Given the description of an element on the screen output the (x, y) to click on. 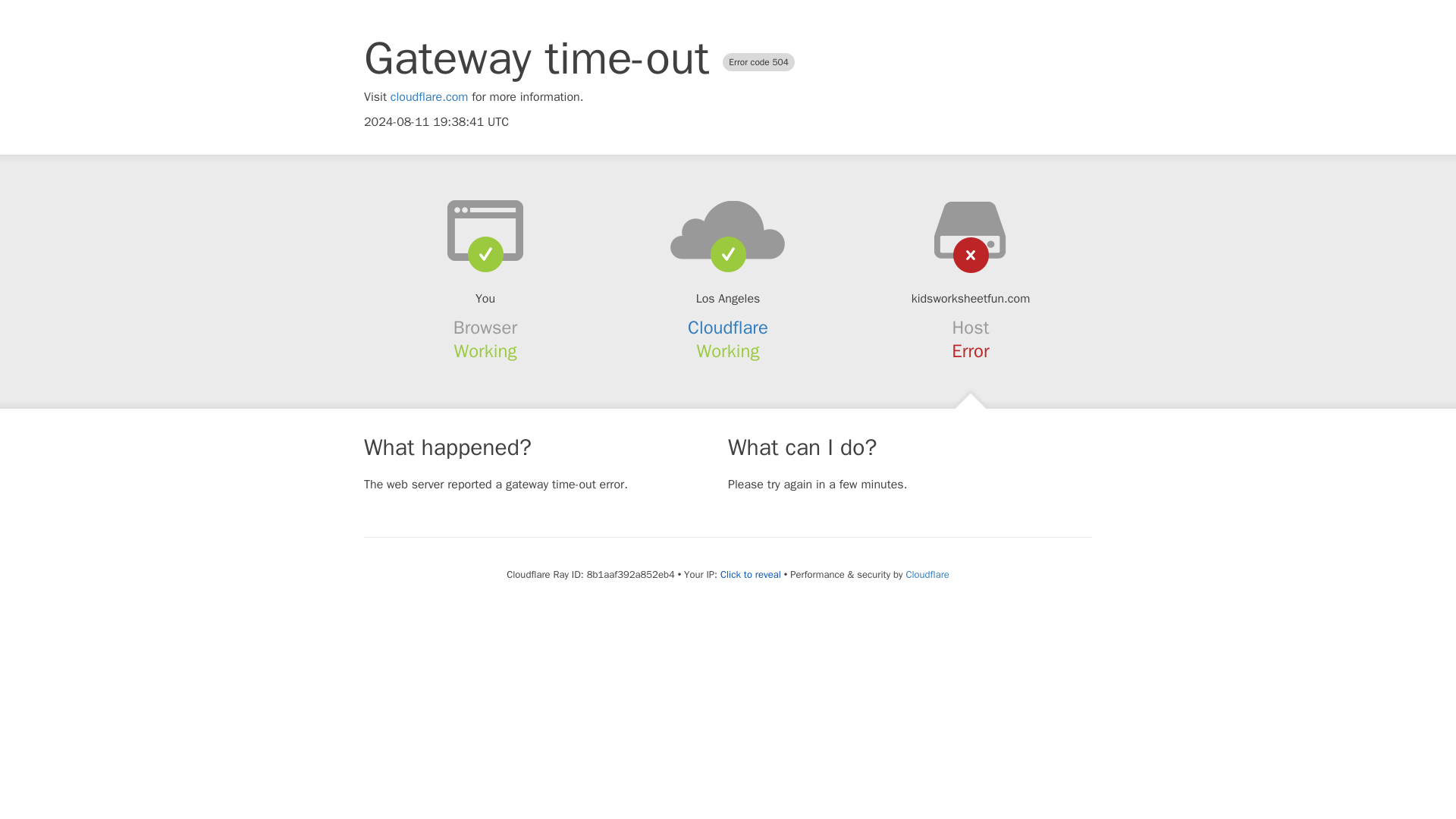
cloudflare.com (429, 96)
Cloudflare (927, 574)
Cloudflare (727, 327)
Click to reveal (750, 574)
